Given the description of an element on the screen output the (x, y) to click on. 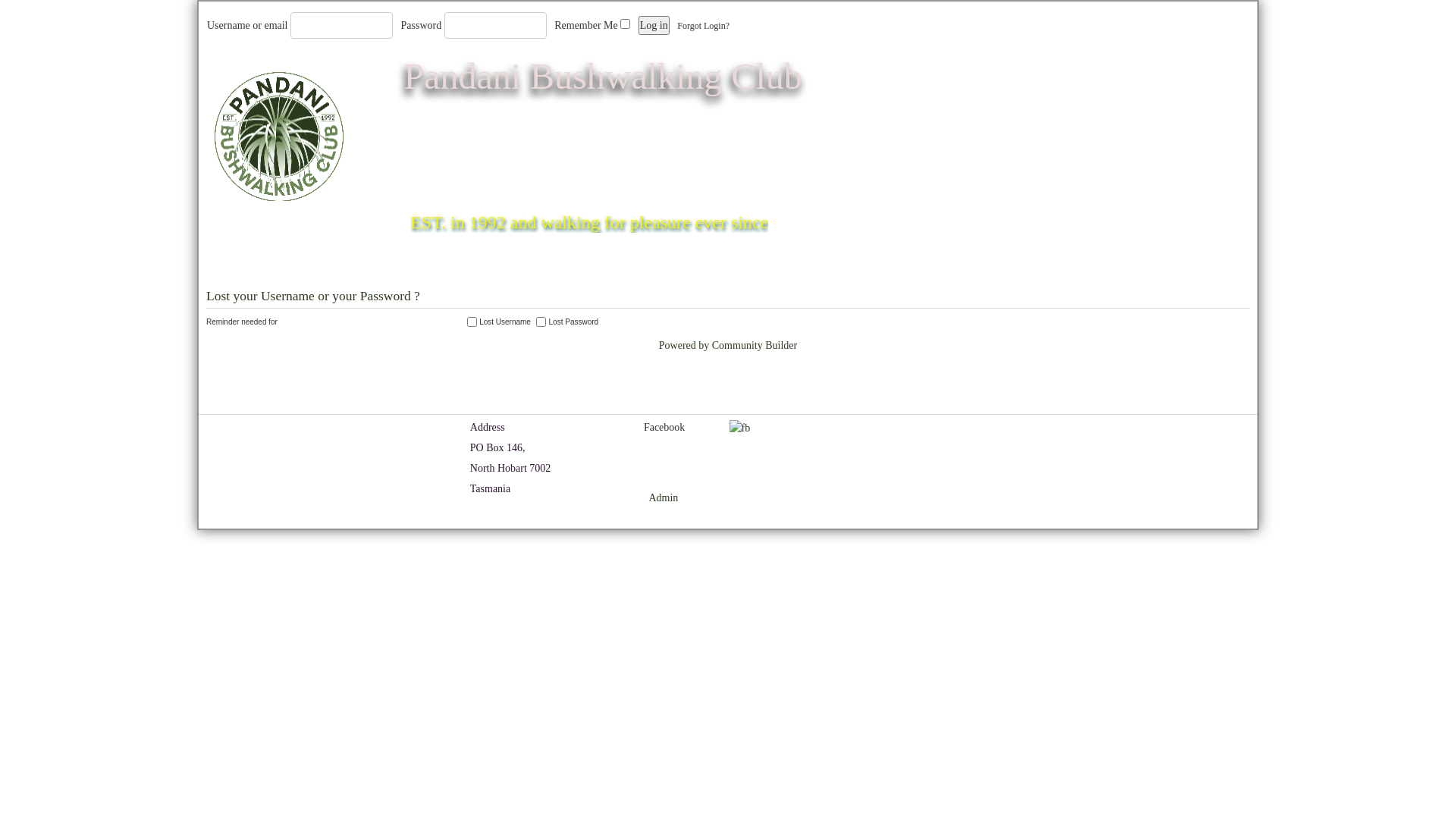
Log in Element type: text (653, 24)
Powered by Community Builder Element type: text (727, 345)
Pandani Bushwalking Club Element type: text (602, 76)
Admin Element type: text (662, 498)
Forgot Login? Element type: text (704, 25)
